Given the description of an element on the screen output the (x, y) to click on. 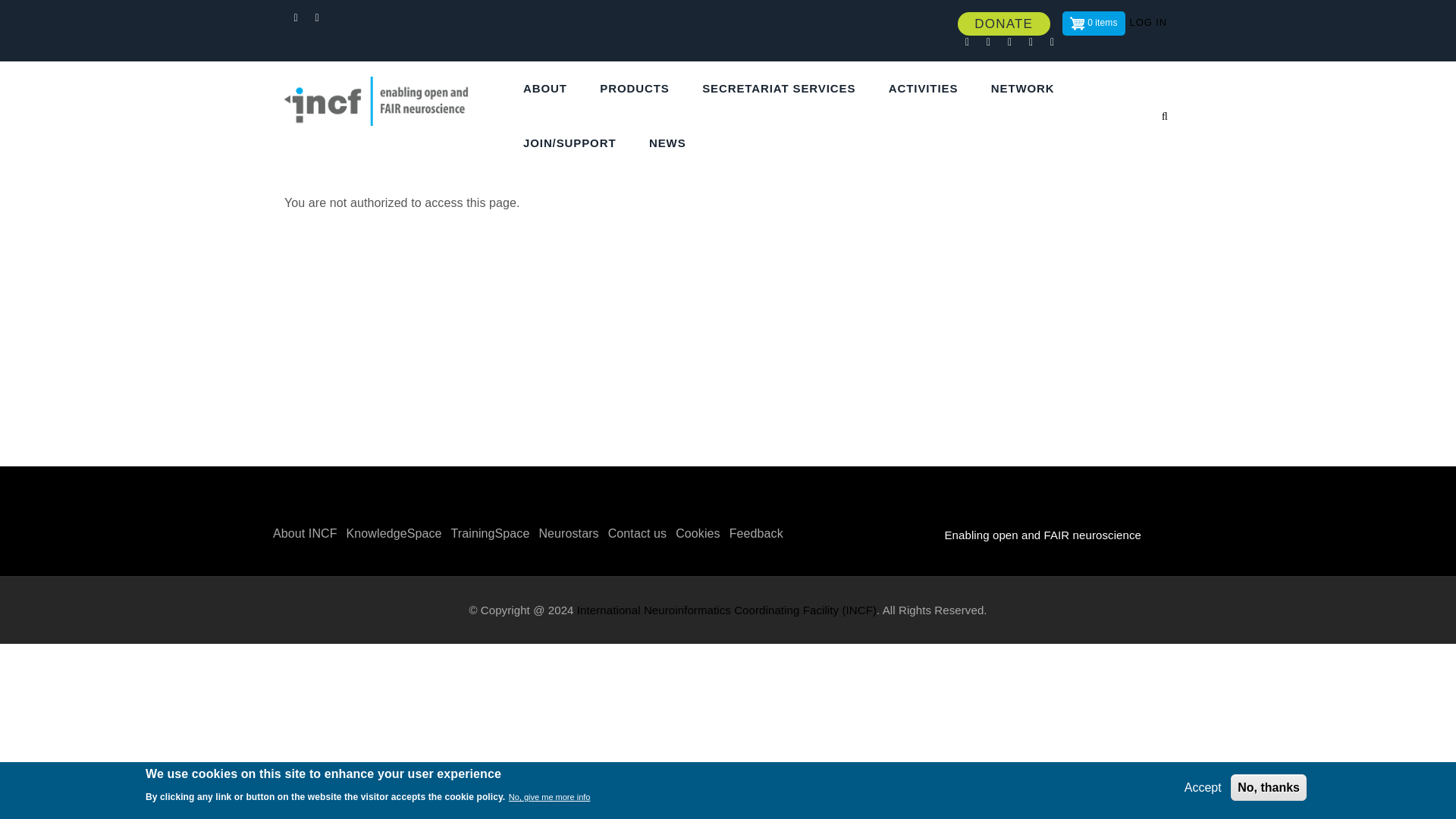
DONATE (1003, 24)
ABOUT (550, 88)
PRODUCTS (639, 88)
SECRETARIAT SERVICES (783, 88)
Home (386, 91)
0 items (1094, 23)
LOG IN (1148, 23)
ACTIVITIES (928, 88)
